Given the description of an element on the screen output the (x, y) to click on. 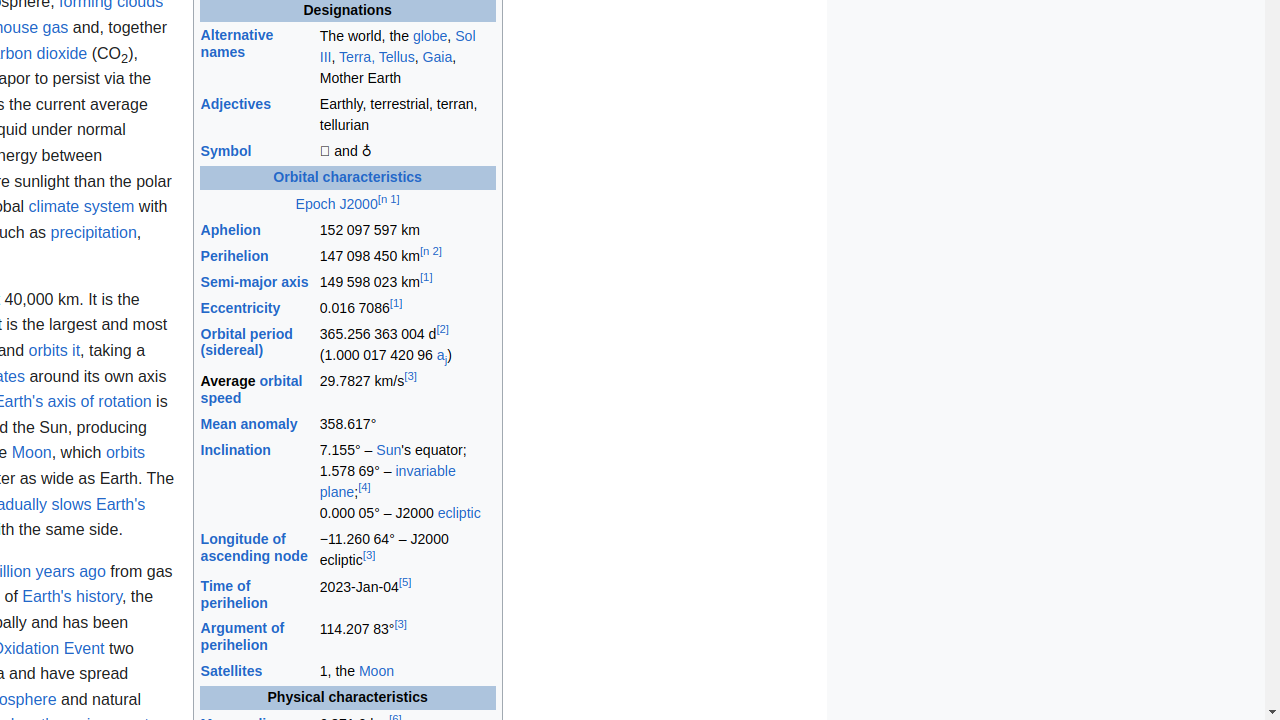
0.0167086[1] Element type: table-cell (407, 309)
Earthly, terrestrial, terran, tellurian Element type: table-cell (407, 115)
globe Element type: link (430, 35)
152097597 km Element type: table-cell (407, 229)
Alternative names Element type: link (237, 44)
